Given the description of an element on the screen output the (x, y) to click on. 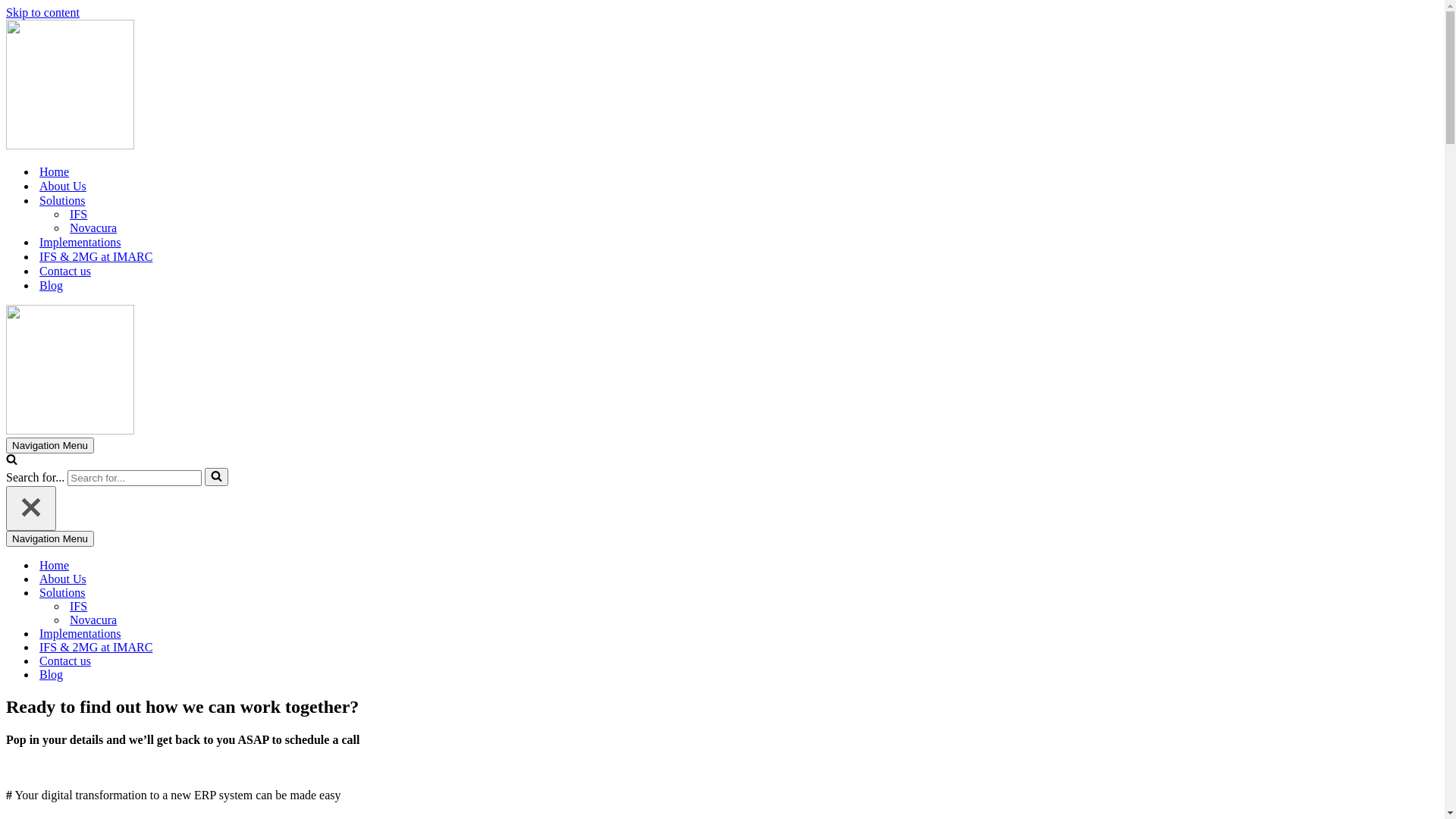
Novacura Element type: text (172, 620)
IFS Element type: text (78, 214)
Contact us Element type: text (65, 270)
Navigation Menu Element type: text (50, 445)
Solutions Element type: text (151, 592)
Implementations Element type: text (80, 242)
IFS Element type: text (172, 606)
Home Element type: text (157, 565)
Solutions Element type: text (61, 200)
Skip to content Element type: text (42, 12)
Blog Element type: text (50, 285)
Home Element type: text (54, 171)
Implementations Element type: text (157, 633)
About Us Element type: text (62, 185)
About Us Element type: text (157, 579)
Contact us Element type: text (157, 661)
Novacura Element type: text (92, 228)
IFS & 2MG at IMARC Element type: text (95, 256)
Blog Element type: text (157, 674)
IFS & 2MG at IMARC Element type: text (157, 647)
Navigation Menu Element type: text (50, 538)
